Given the description of an element on the screen output the (x, y) to click on. 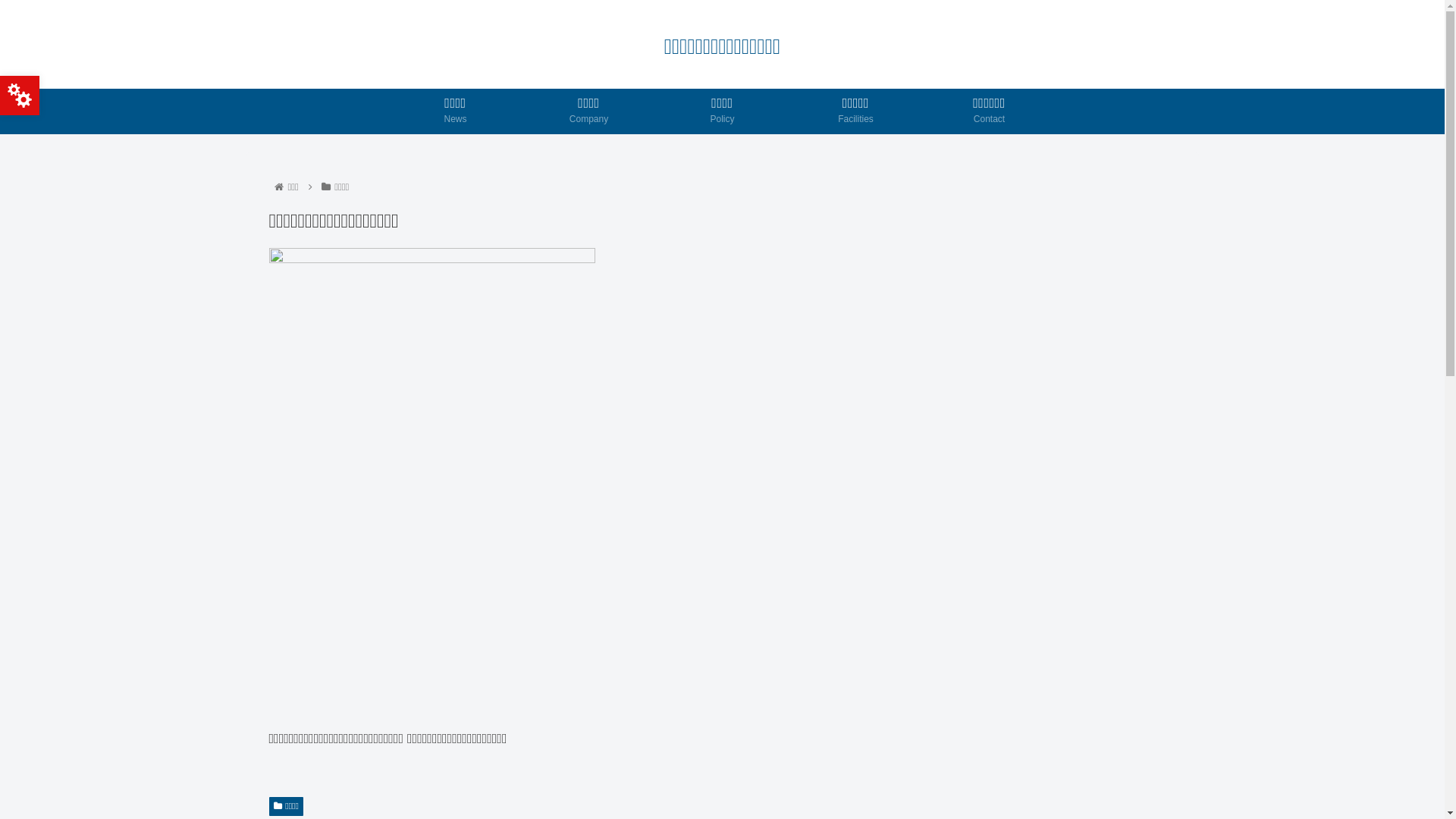
Open toolbar Element type: text (19, 95)
